Given the description of an element on the screen output the (x, y) to click on. 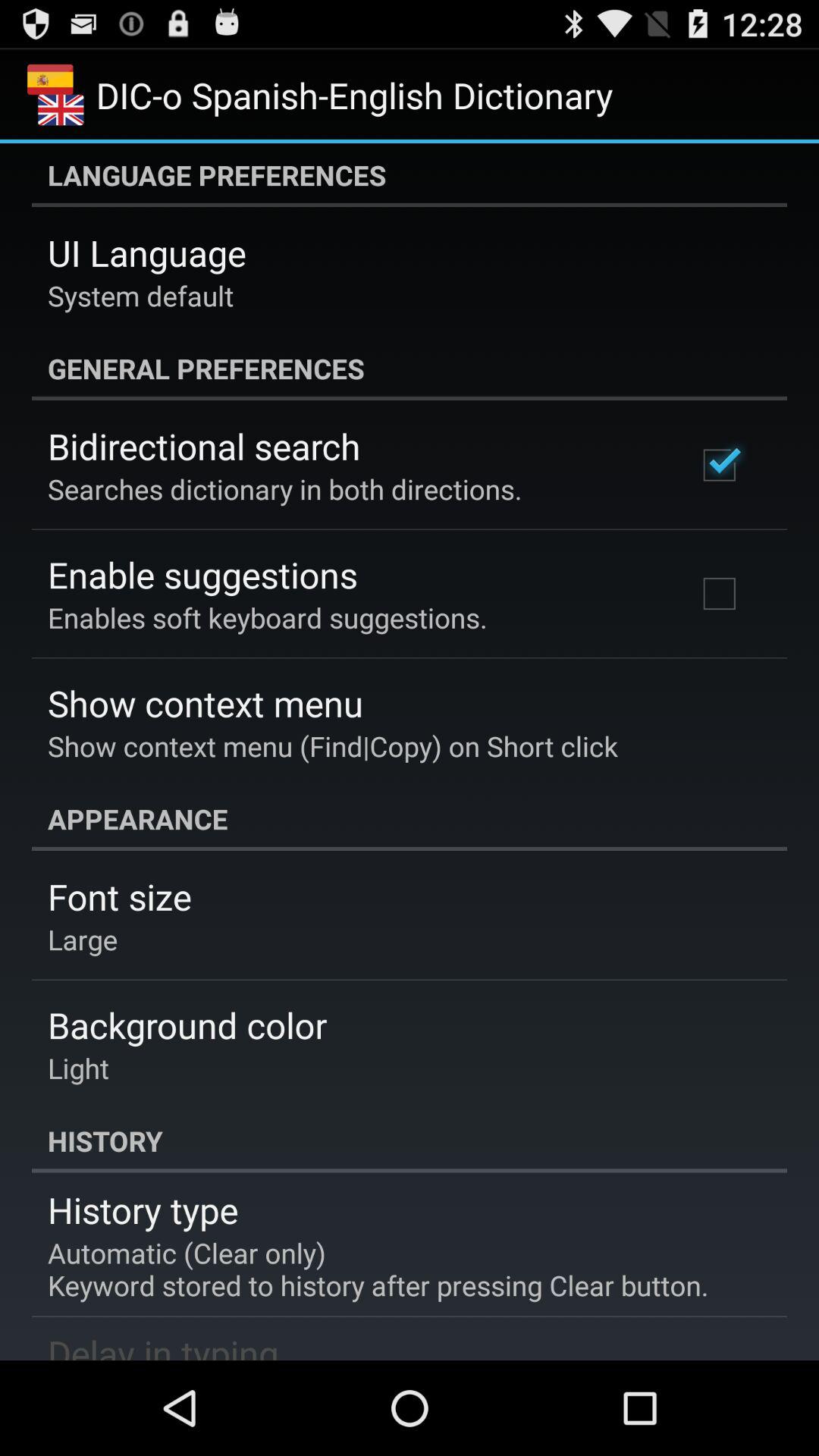
turn on icon above the font size (409, 818)
